Given the description of an element on the screen output the (x, y) to click on. 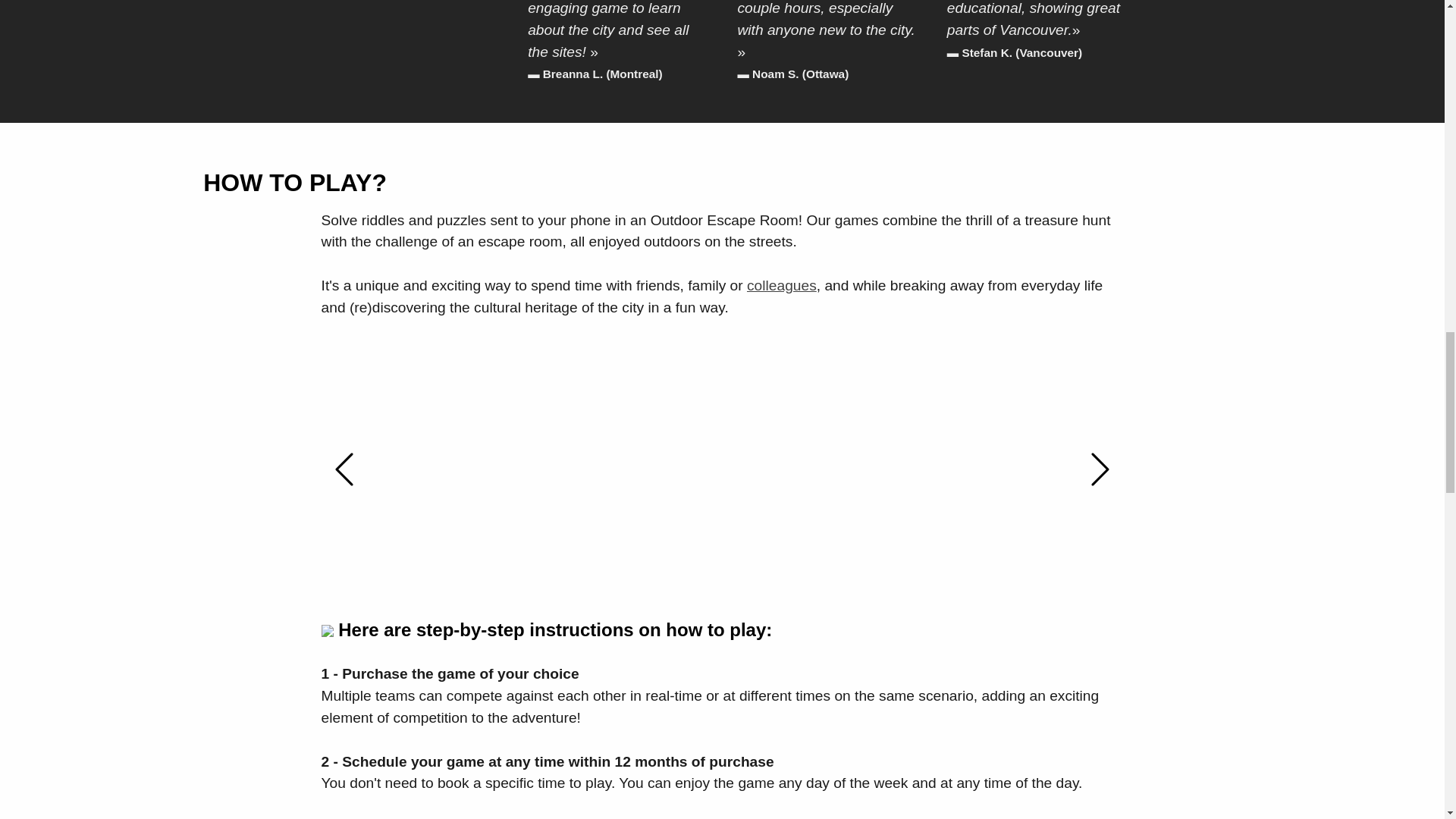
colleagues (781, 285)
